Given the description of an element on the screen output the (x, y) to click on. 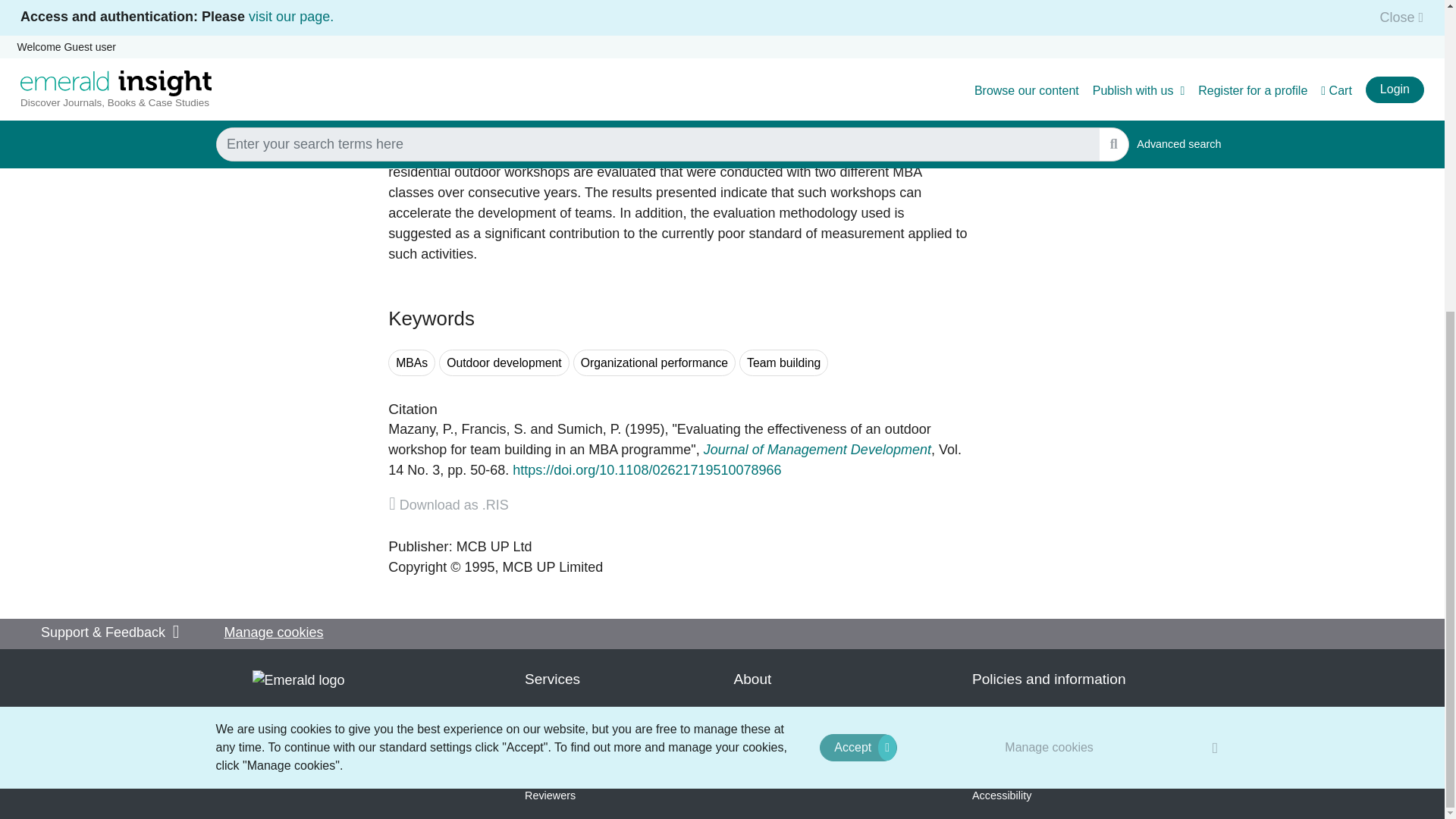
Search for keyword Team building (783, 362)
S. Francis (494, 428)
P. Sumich (589, 428)
P. Mazany (420, 428)
Search for keyword MBAs (411, 362)
Accept (857, 252)
Search for keyword Outdoor development (504, 362)
Search for keyword Organizational performance (654, 362)
Manage cookies (1049, 252)
